Given the description of an element on the screen output the (x, y) to click on. 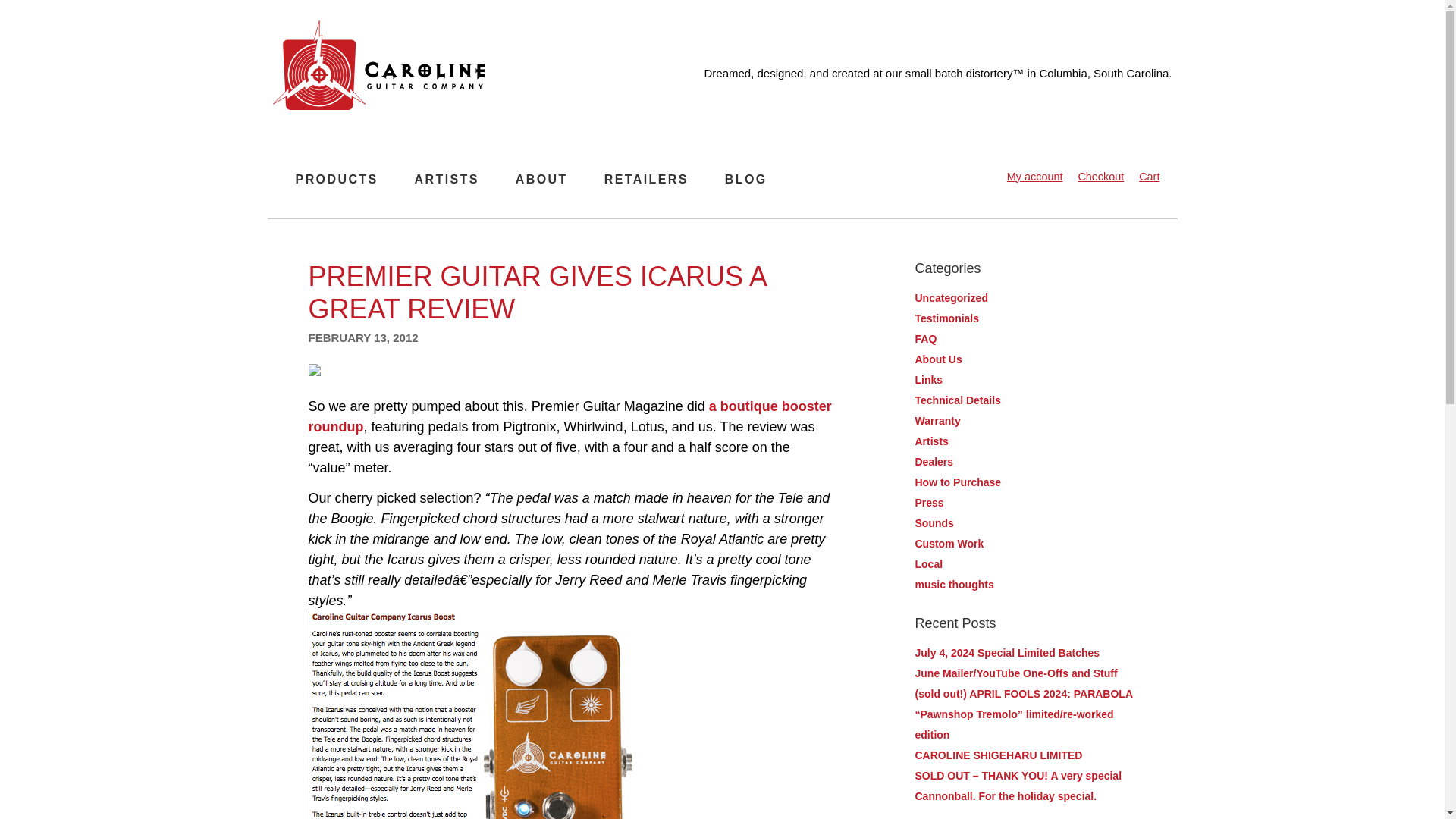
BLOG (746, 178)
PRODUCTS (337, 178)
Testimonials (946, 318)
ARTISTS (446, 178)
FAQ (925, 337)
July 4, 2024 Special Limited Batches (1006, 652)
Uncategorized (950, 297)
Artists (930, 440)
Press (928, 501)
Checkout (1100, 176)
